Given the description of an element on the screen output the (x, y) to click on. 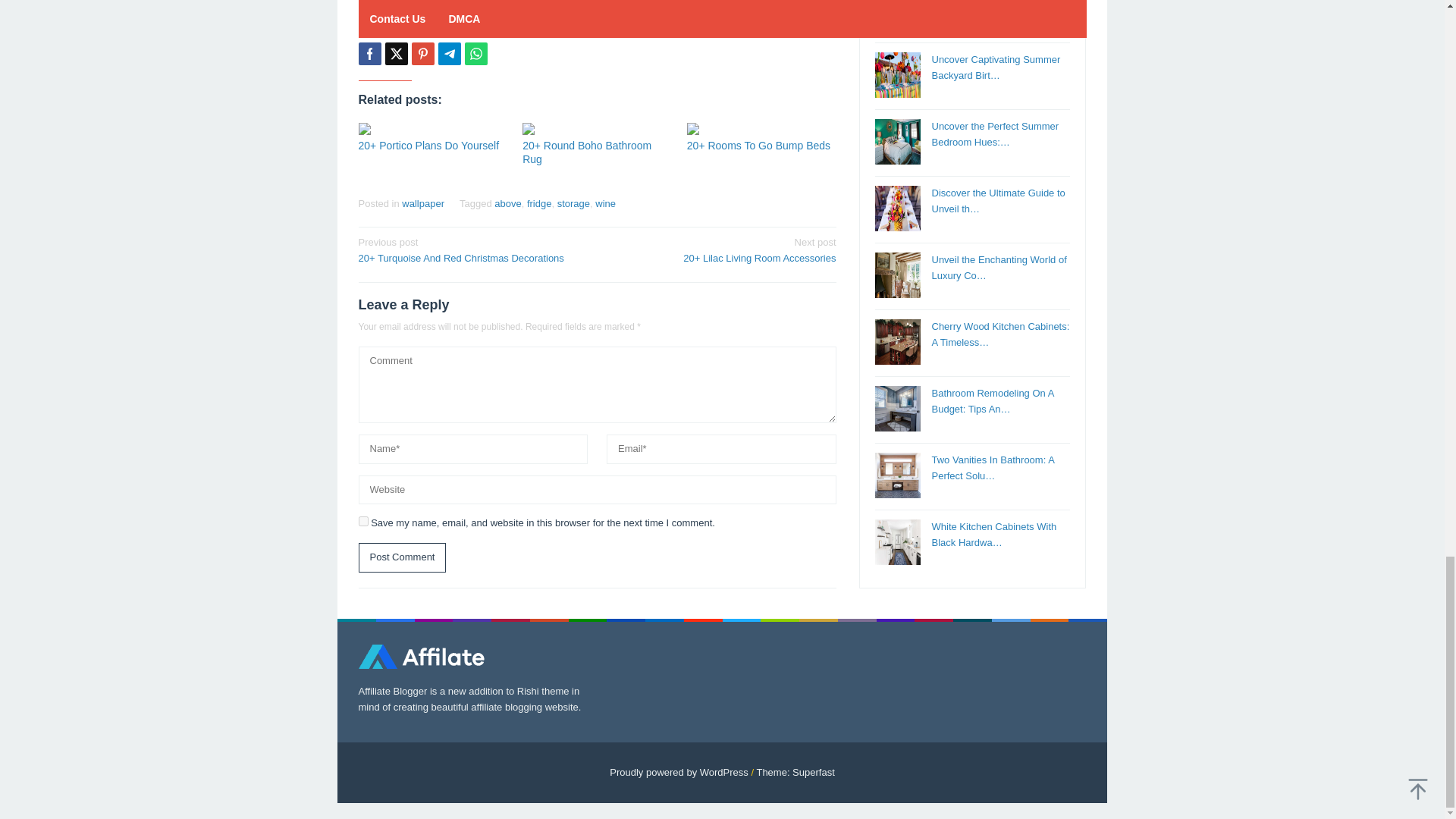
yes (363, 521)
Share this (369, 53)
Post Comment (401, 557)
Whatsapp (475, 53)
Tweet this (396, 53)
Pin this (421, 53)
Telegram Share (449, 53)
